Given the description of an element on the screen output the (x, y) to click on. 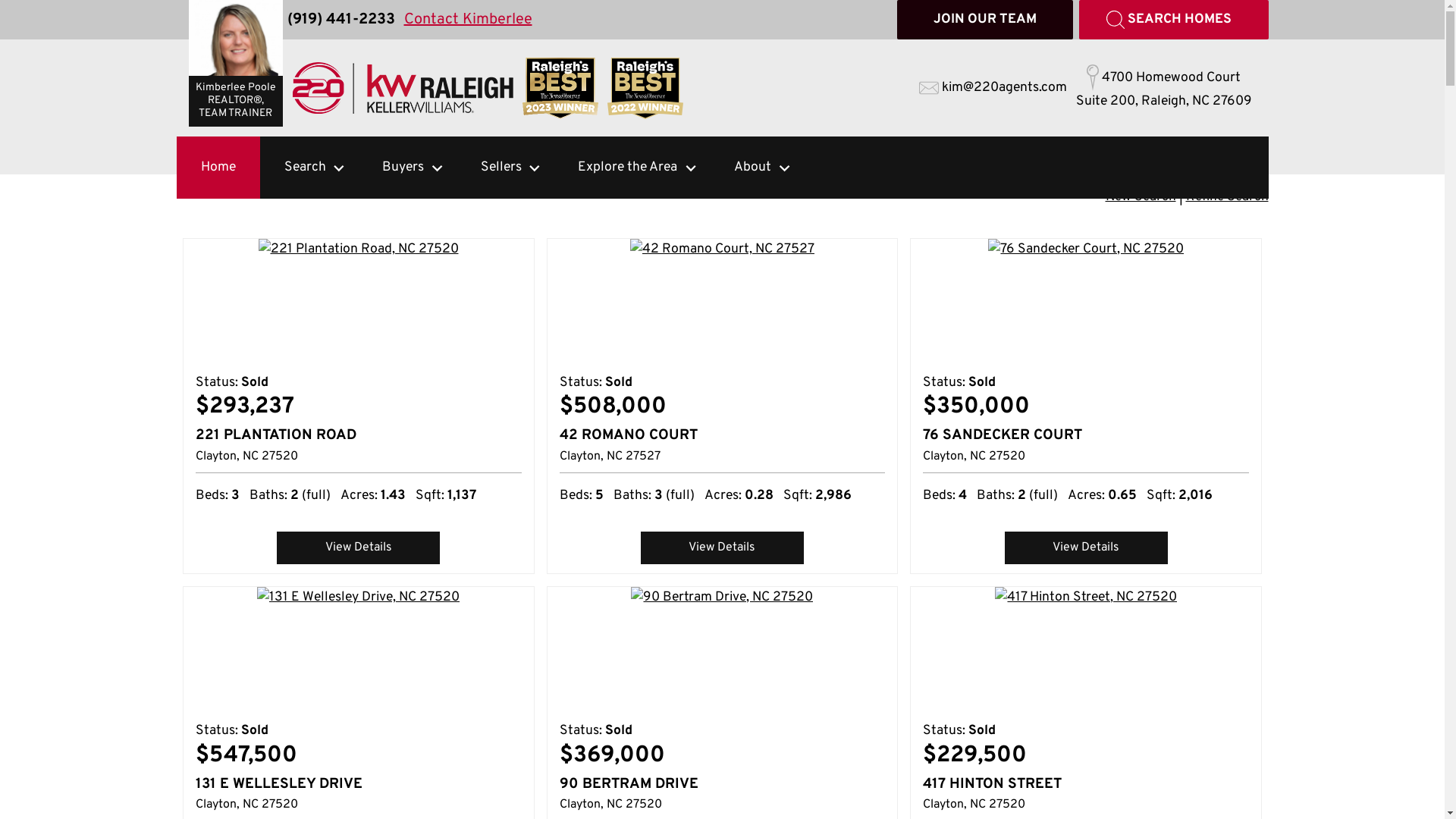
Explore the Area Element type: text (616, 167)
kim@220agents.com Element type: text (992, 87)
JOIN OUR TEAM Element type: text (984, 19)
View Details Element type: text (721, 547)
New Search Element type: text (1140, 196)
Search Element type: text (293, 167)
(919) 441-2233 Element type: text (340, 19)
About Element type: text (741, 167)
Refine Search Element type: text (1227, 196)
Buyers Element type: text (391, 167)
Contact Kimberlee Element type: text (467, 19)
View Details Element type: text (357, 547)
SEARCH HOMES Element type: text (1172, 19)
View Details Element type: text (1085, 547)
Sellers Element type: text (490, 167)
4700 Homewood Court
Suite 200, Raleigh, NC 27609 Element type: text (1163, 88)
Home Element type: text (217, 167)
